Given the description of an element on the screen output the (x, y) to click on. 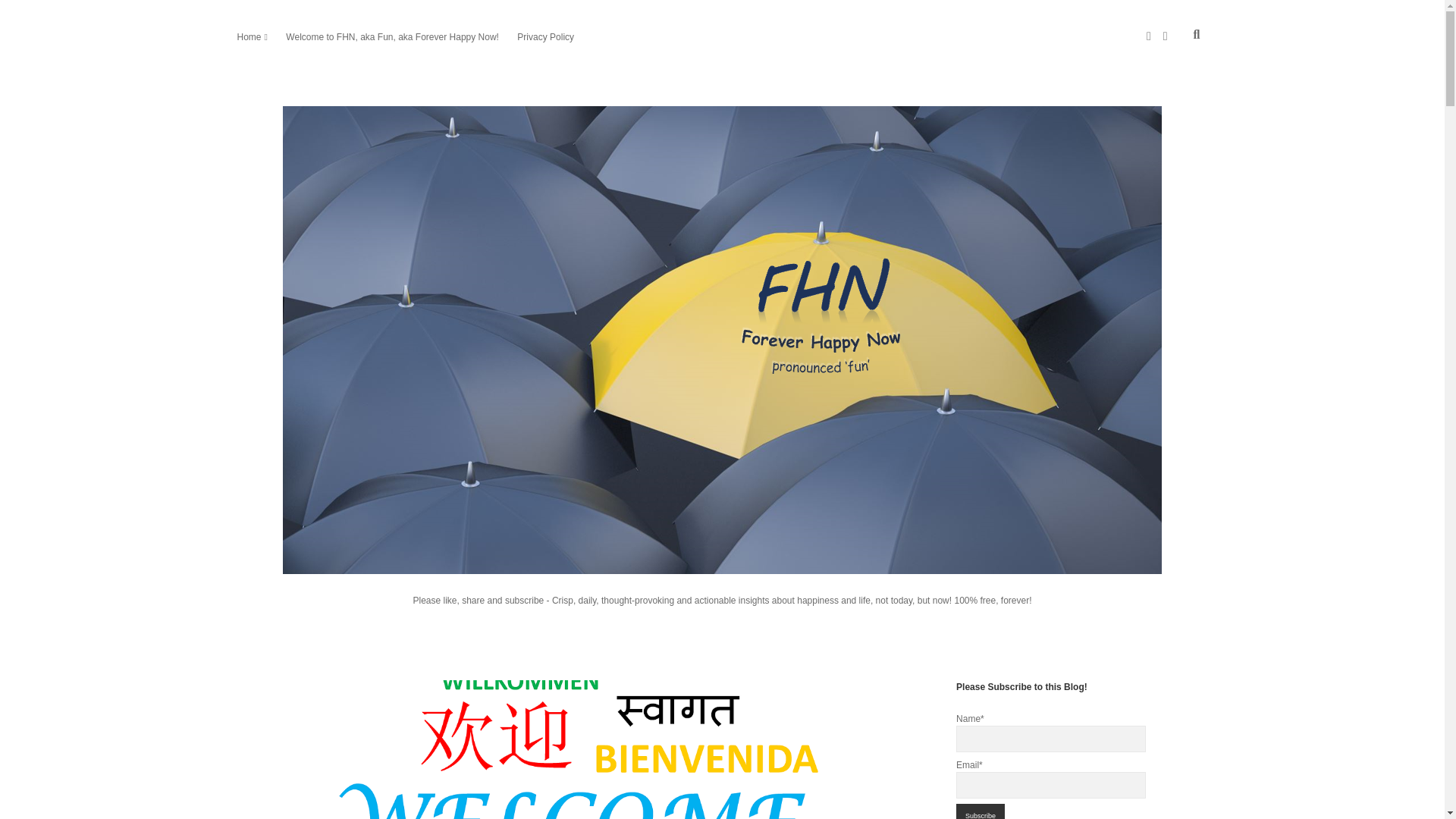
Forever Happy Now! (721, 560)
Welcome to FHN, aka Fun, aka Forever Happy Now! (392, 37)
Home (247, 37)
Privacy Policy (544, 37)
Subscribe (980, 811)
